Given the description of an element on the screen output the (x, y) to click on. 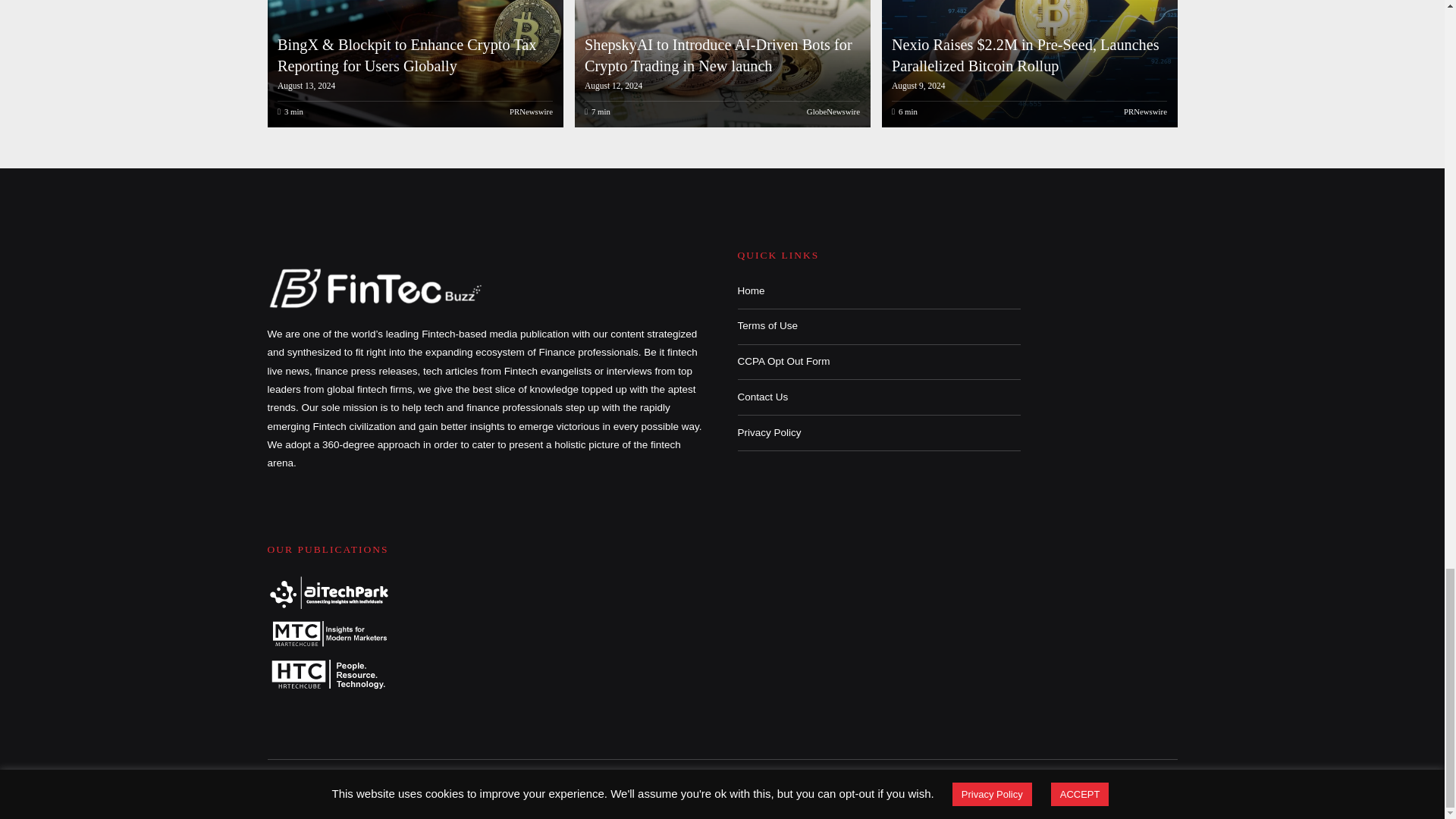
newOriginal-white-FinTech1-1 (376, 287)
